Given the description of an element on the screen output the (x, y) to click on. 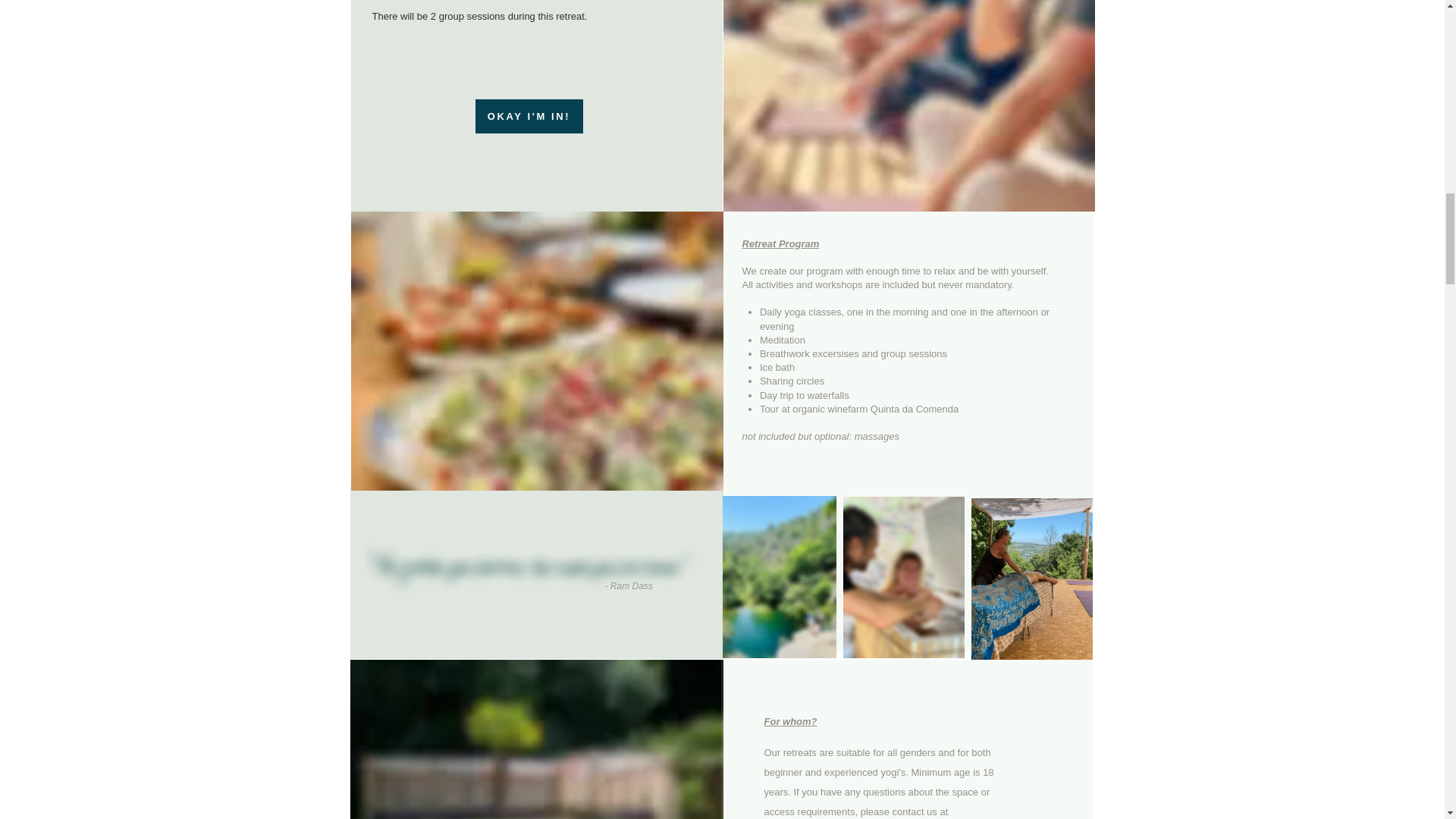
OKAY I'M IN! (528, 115)
